Given the description of an element on the screen output the (x, y) to click on. 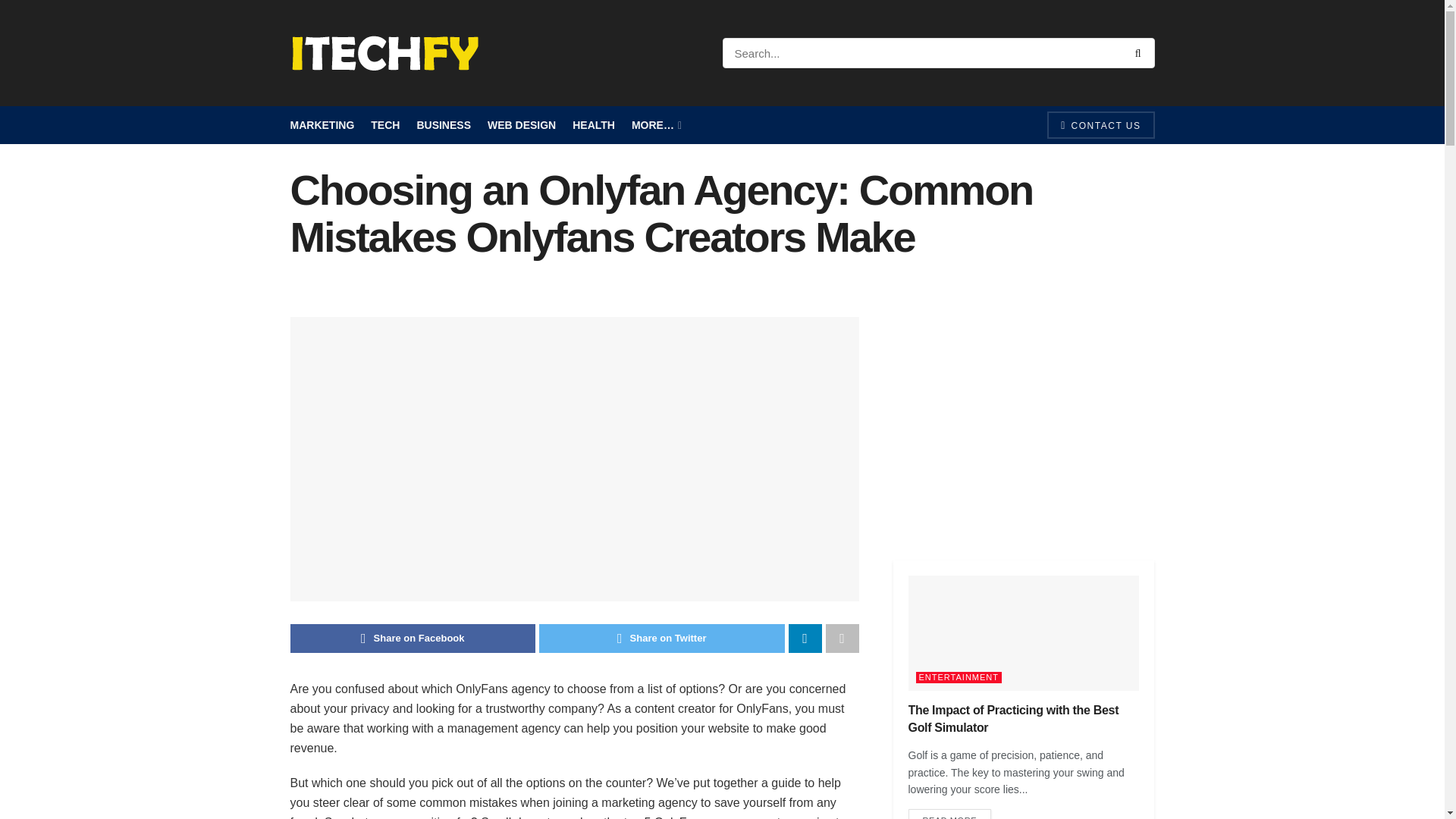
HEALTH (593, 125)
WEB DESIGN (521, 125)
BUSINESS (443, 125)
CONTACT US (1100, 124)
MARKETING (321, 125)
